Given the description of an element on the screen output the (x, y) to click on. 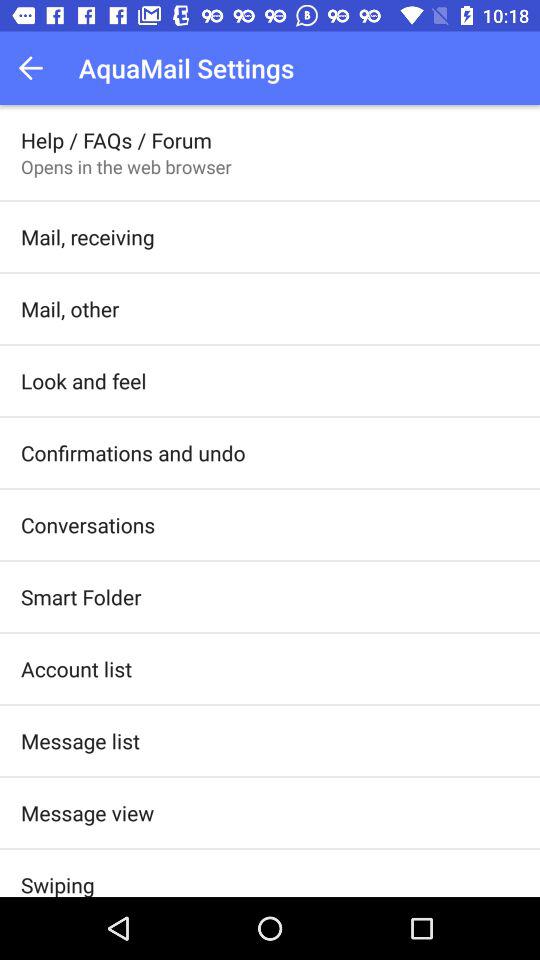
press icon to the left of aquamail settings app (36, 68)
